Given the description of an element on the screen output the (x, y) to click on. 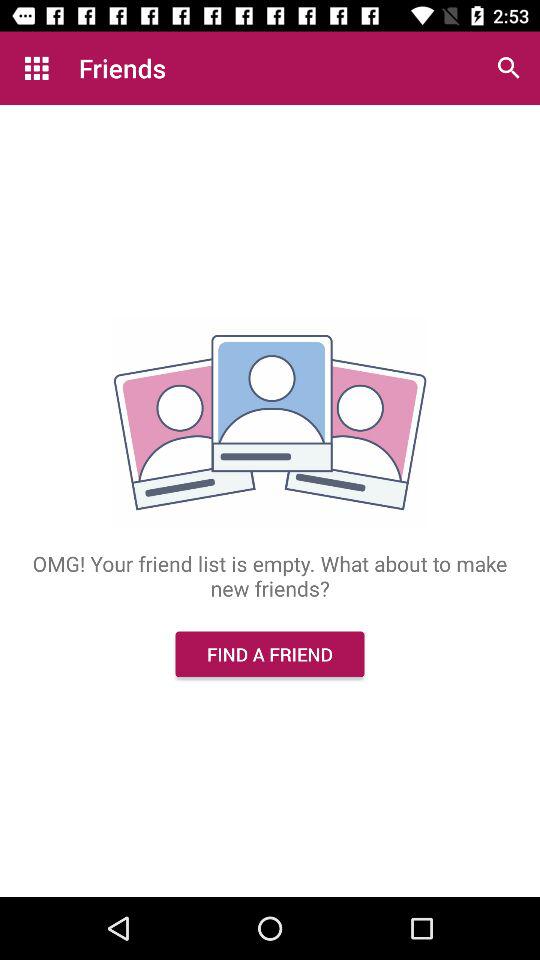
turn on the item below omg your friend icon (269, 654)
